Given the description of an element on the screen output the (x, y) to click on. 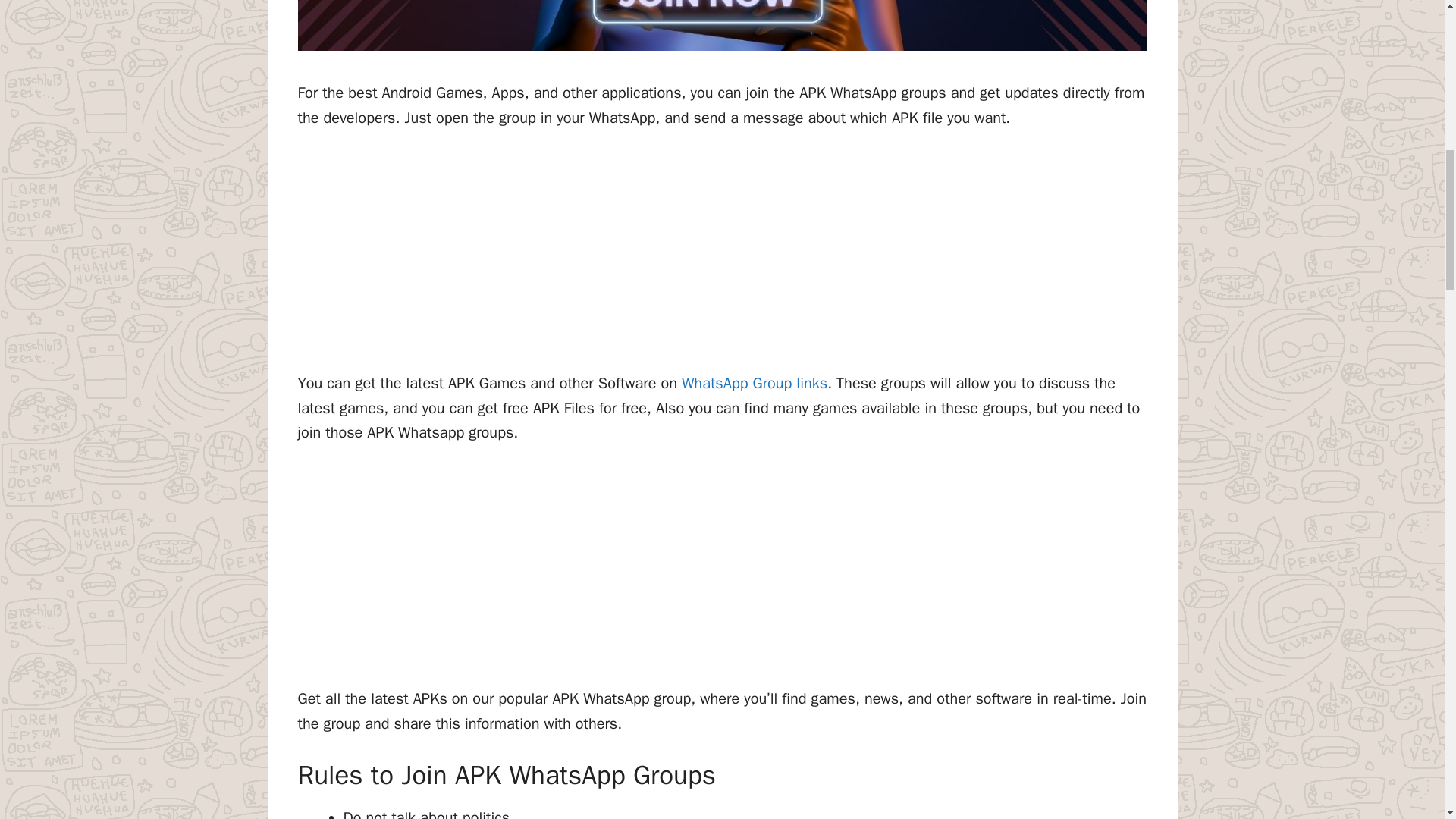
WhatsApp Group links (754, 383)
Scroll back to top (1406, 720)
